Given the description of an element on the screen output the (x, y) to click on. 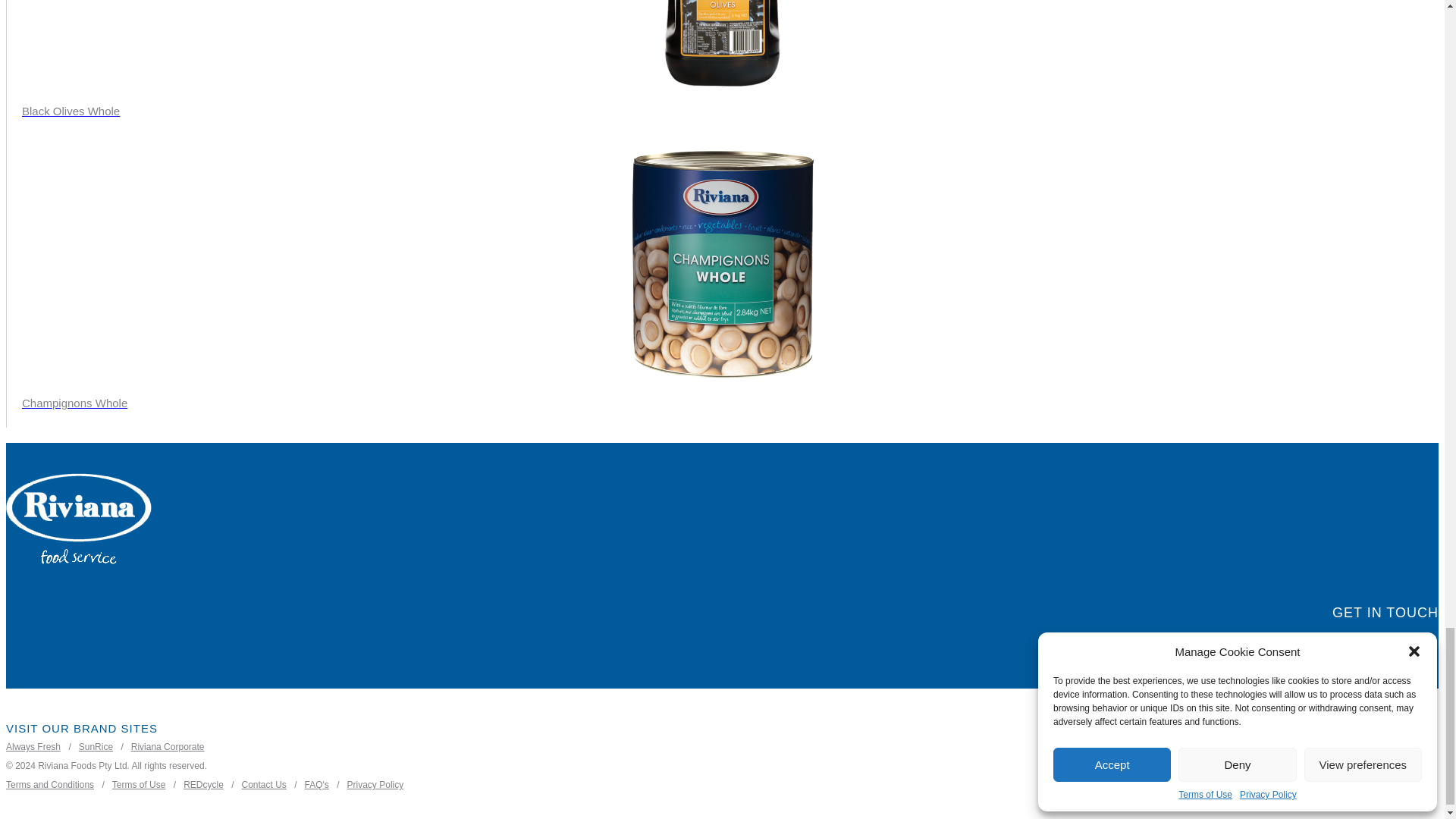
Get all the latest news and information (1385, 612)
SunRice (87, 747)
GET IN TOUCH (1385, 612)
SunRice (87, 747)
Terms and Conditions (49, 784)
Riviana Corporate (159, 747)
Riviana Corporate (159, 747)
Always Fresh (33, 747)
Always Fresh (33, 747)
